Given the description of an element on the screen output the (x, y) to click on. 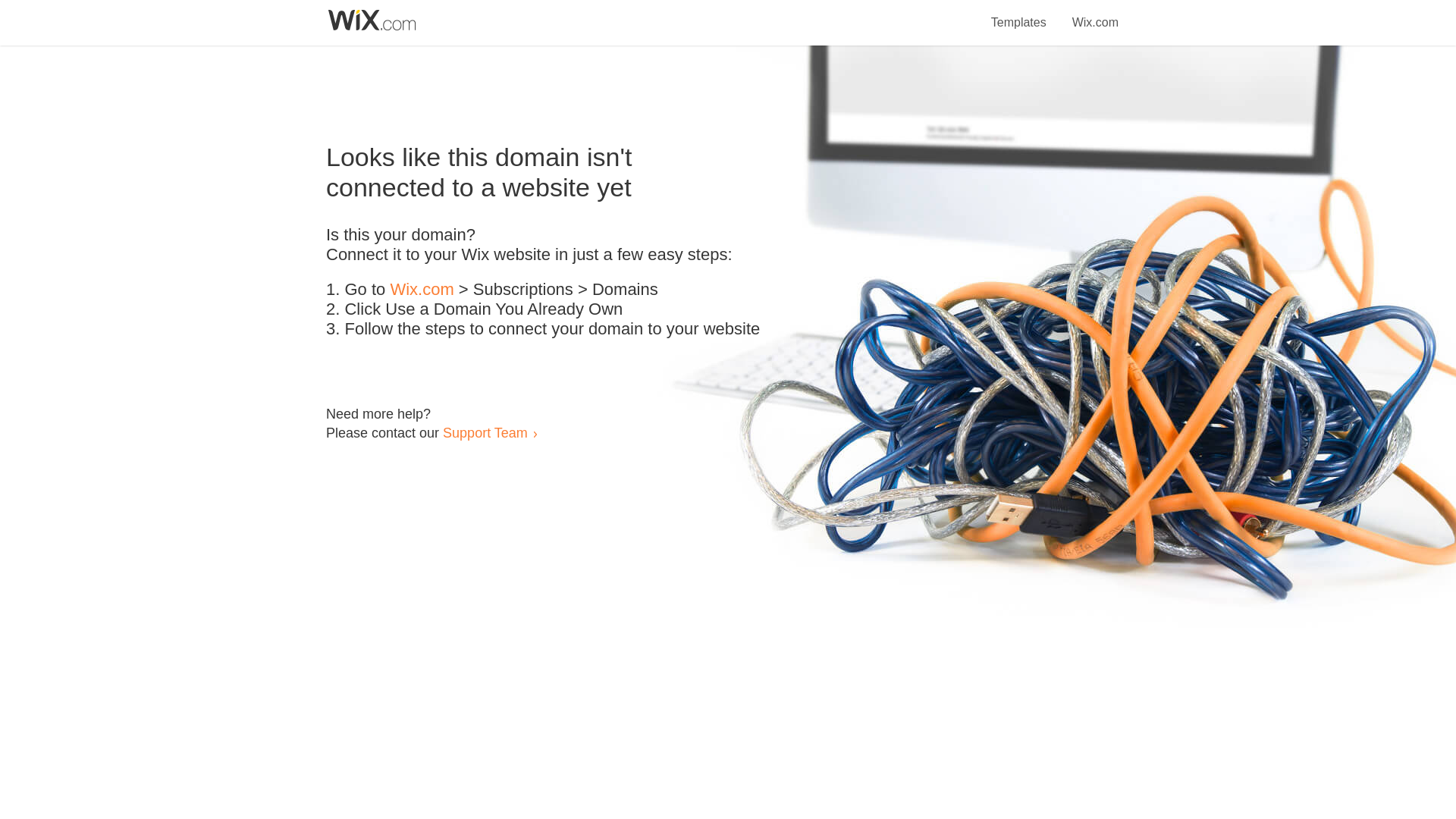
Support Team (484, 432)
Wix.com (421, 289)
Wix.com (1095, 14)
Templates (1018, 14)
